Given the description of an element on the screen output the (x, y) to click on. 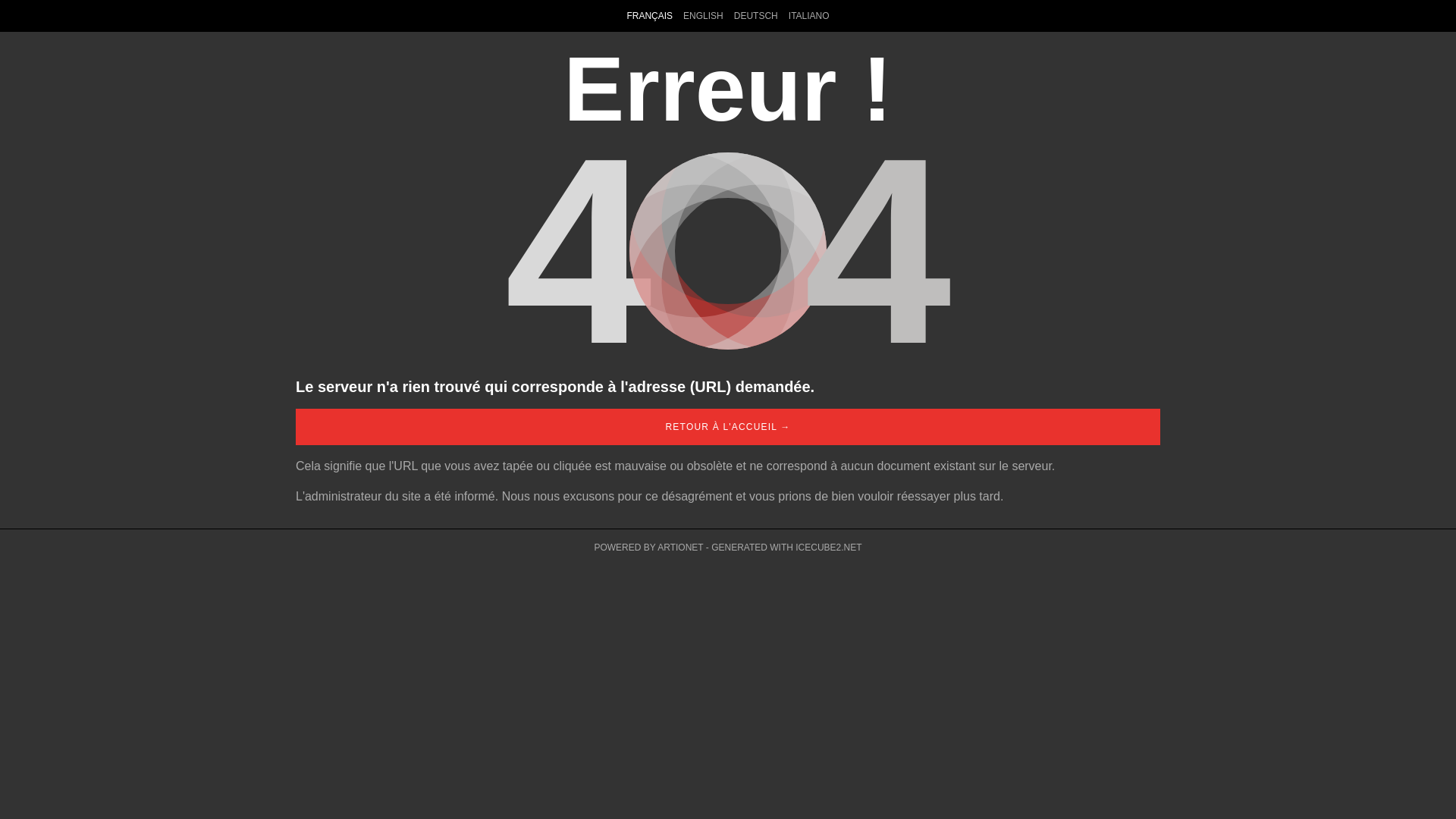
POWERED BY ARTIONET Element type: text (647, 547)
ITALIANO Element type: text (808, 15)
ENGLISH Element type: text (702, 15)
GENERATED WITH ICECUBE2.NET Element type: text (786, 547)
DEUTSCH Element type: text (755, 15)
